Given the description of an element on the screen output the (x, y) to click on. 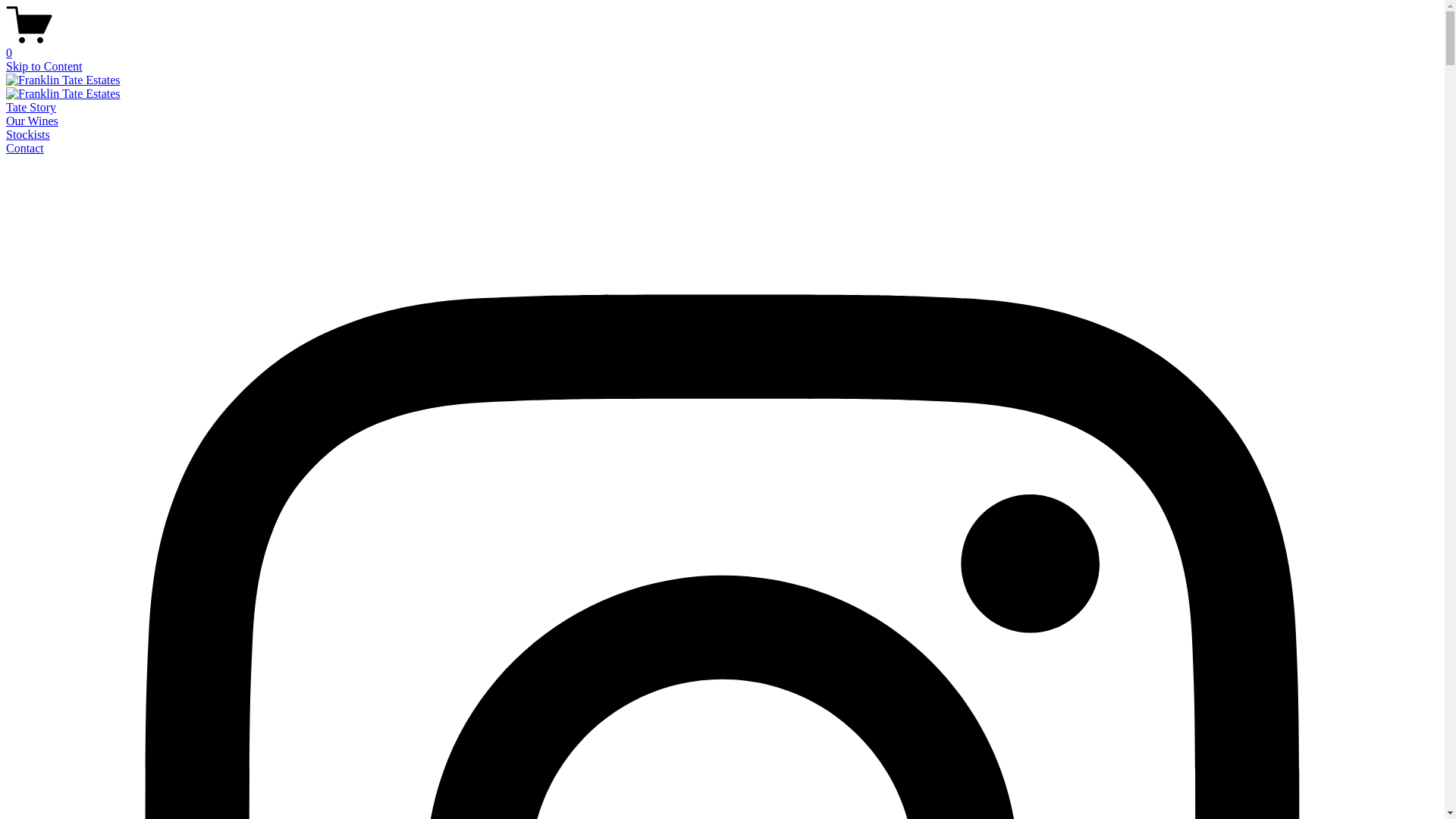
Skip to Content Element type: text (43, 65)
Tate Story Element type: text (31, 106)
Contact Element type: text (24, 147)
Our Wines Element type: text (32, 120)
Stockists Element type: text (28, 134)
0 Element type: text (722, 45)
